Given the description of an element on the screen output the (x, y) to click on. 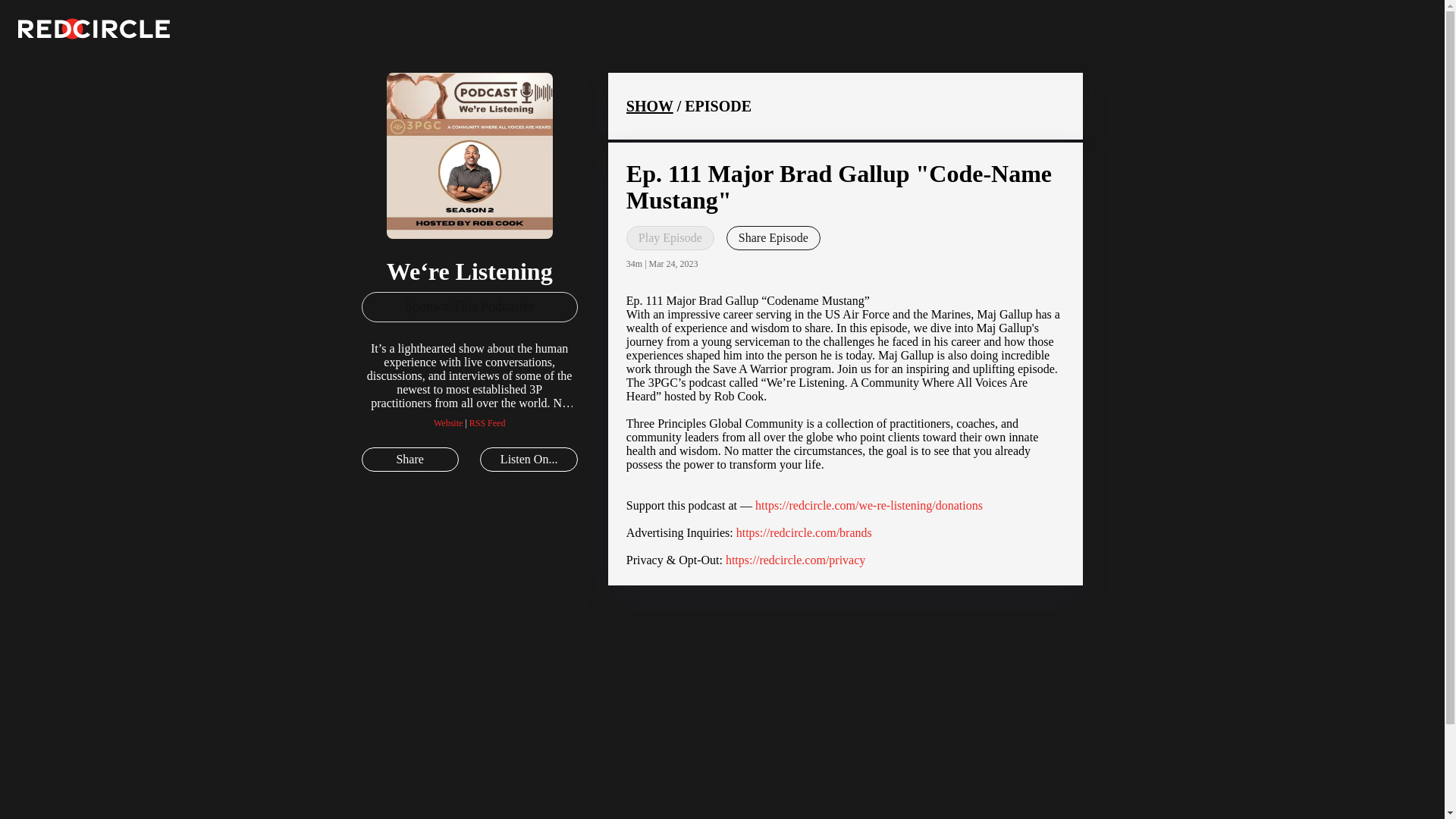
Website (448, 422)
RSS Feed (486, 422)
Sponsor This Podcaster (468, 306)
Listen On... (528, 459)
Share Episode (773, 238)
Share (409, 459)
Play Episode (670, 238)
SHOW (649, 105)
